Given the description of an element on the screen output the (x, y) to click on. 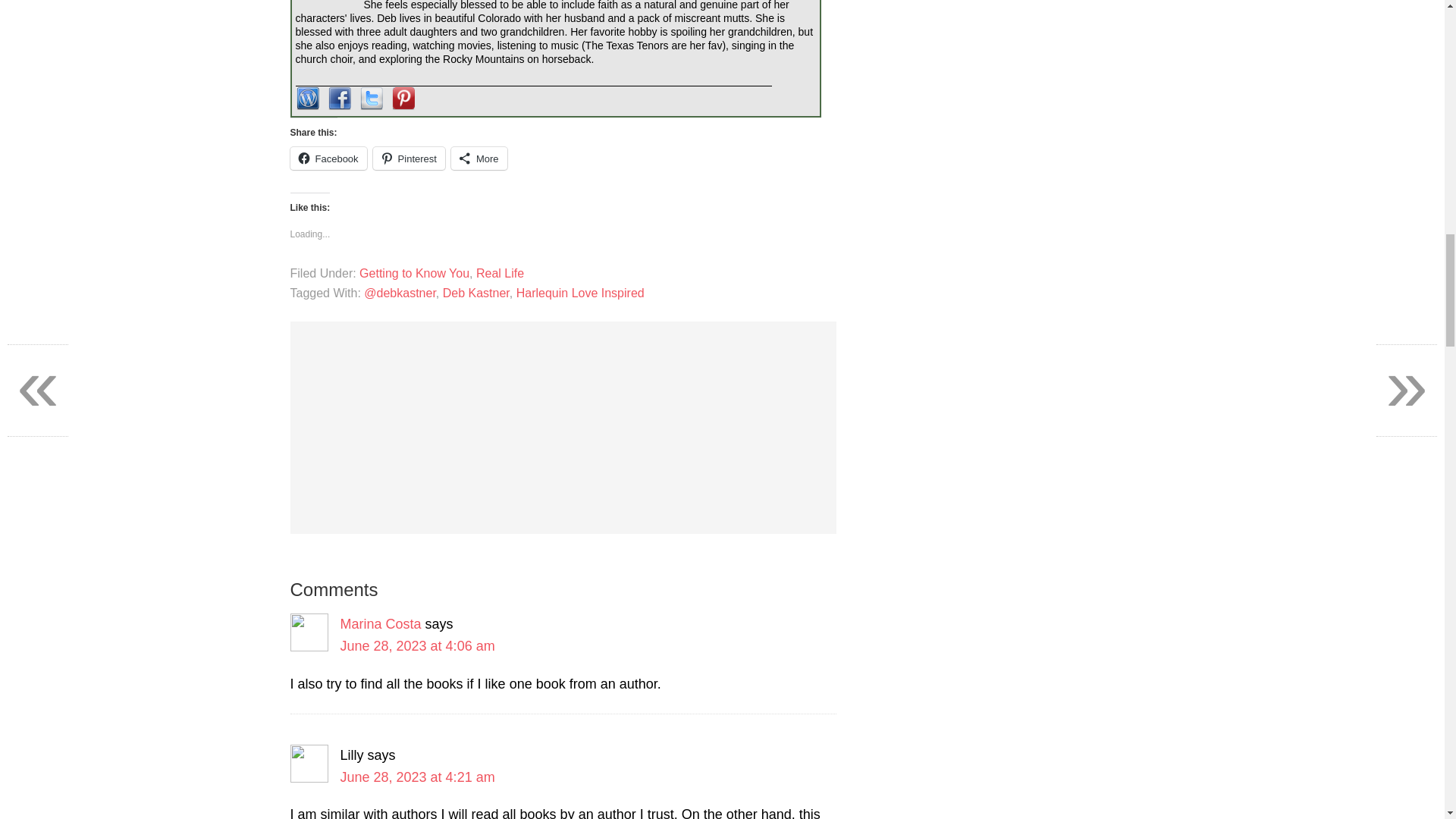
June 28, 2023 at 4:06 am (417, 645)
Pinterest (408, 158)
Click to share on Pinterest (408, 158)
Real Life (500, 273)
Click to share on Facebook (327, 158)
Getting to Know You (413, 273)
Marina Costa (379, 623)
More (478, 158)
Facebook (327, 158)
Deb Kastner (475, 292)
